Given the description of an element on the screen output the (x, y) to click on. 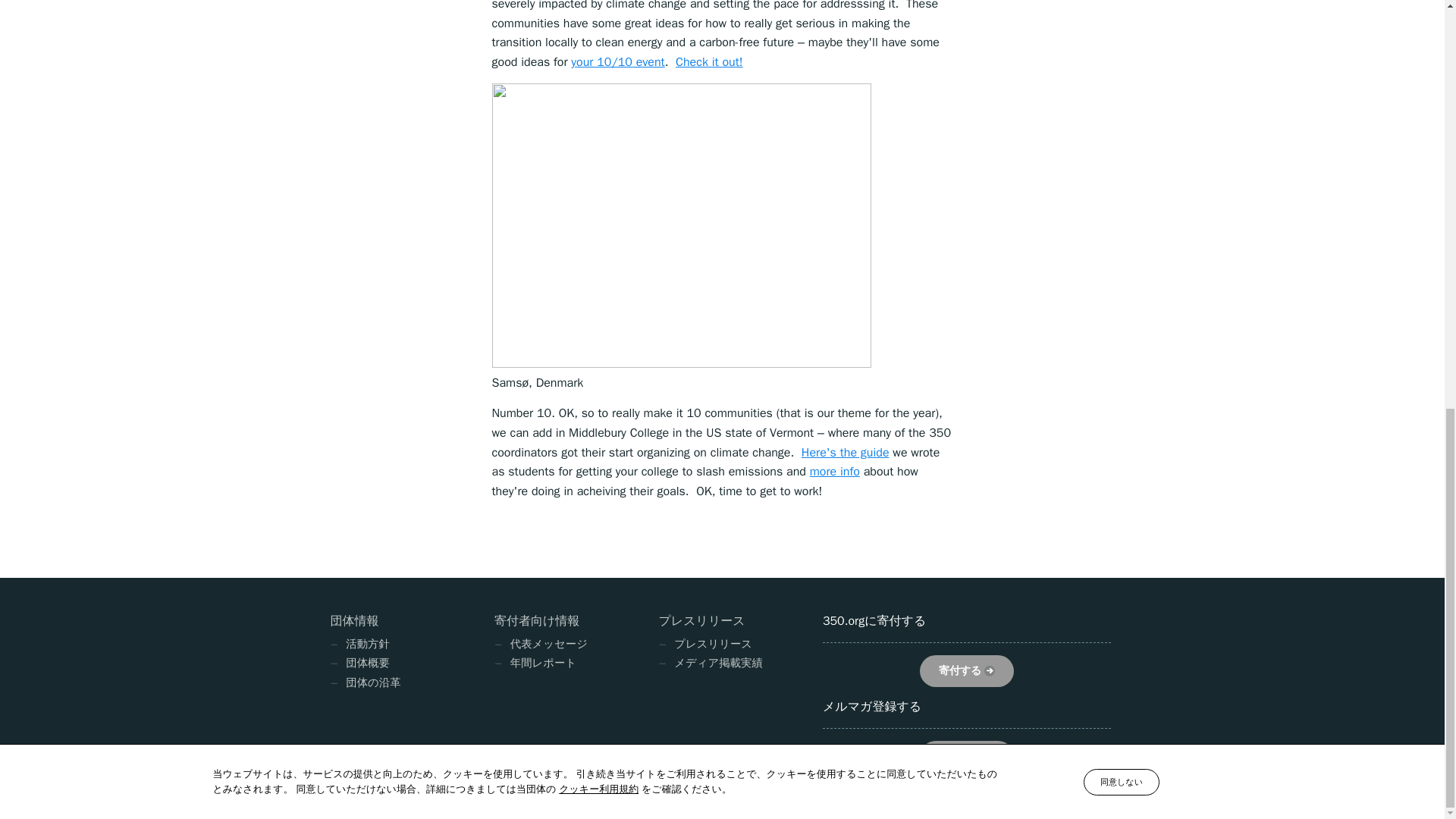
Here's the guide (845, 452)
more info (834, 471)
Check it out! (708, 61)
